Given the description of an element on the screen output the (x, y) to click on. 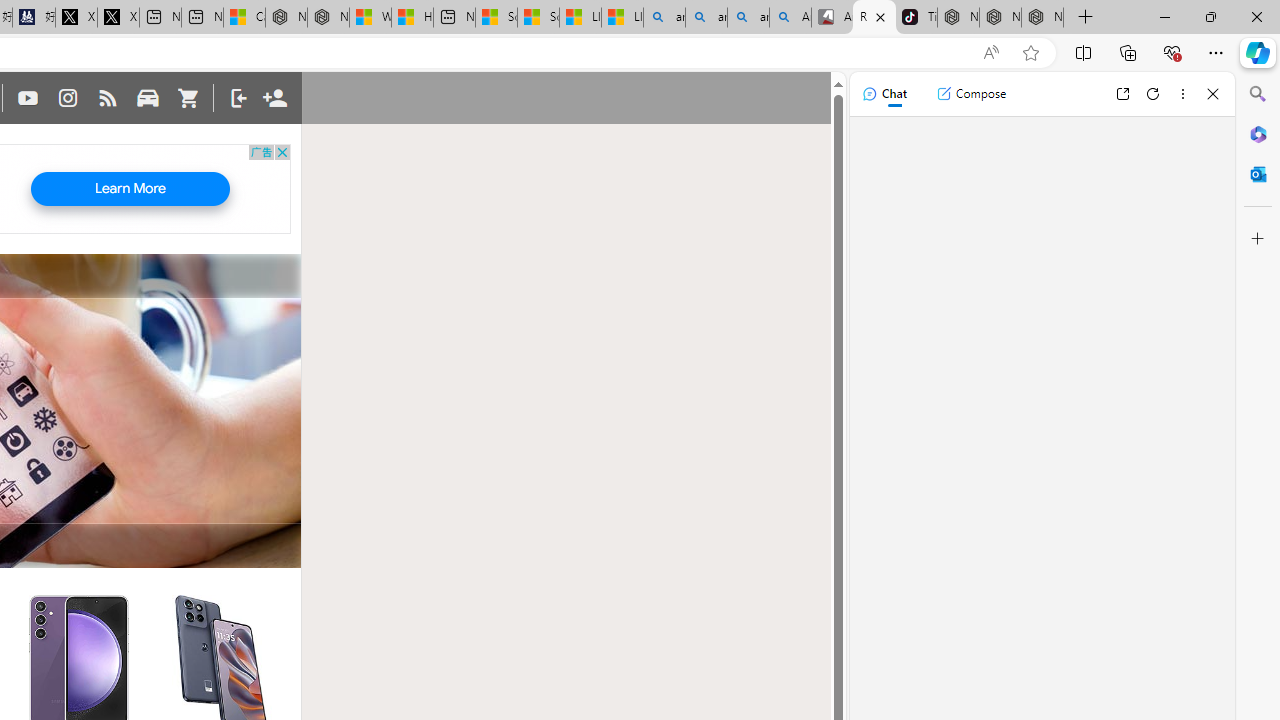
Nordace - Best Sellers (958, 17)
